Given the description of an element on the screen output the (x, y) to click on. 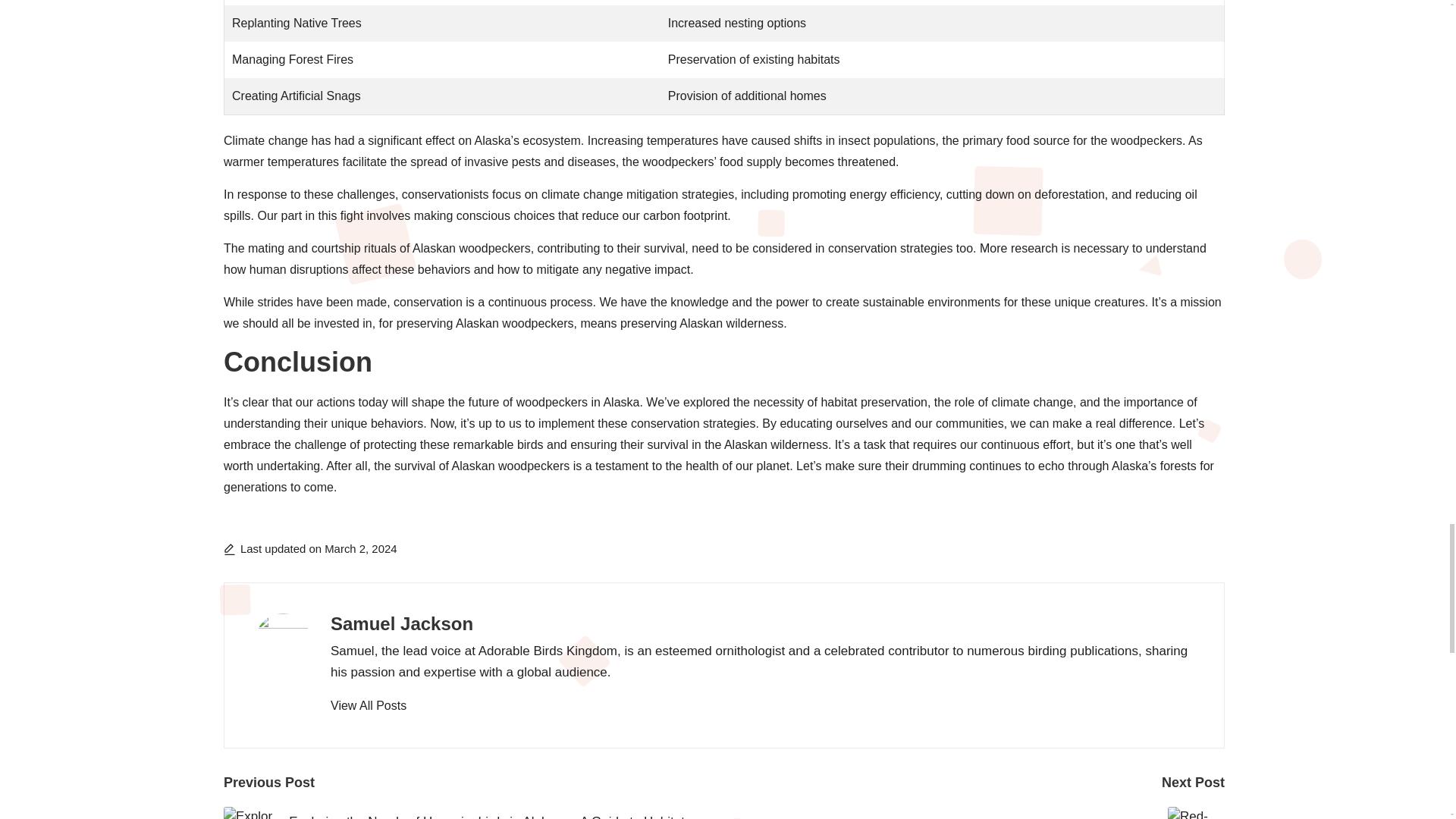
View All Posts (368, 705)
Samuel Jackson (401, 623)
